Given the description of an element on the screen output the (x, y) to click on. 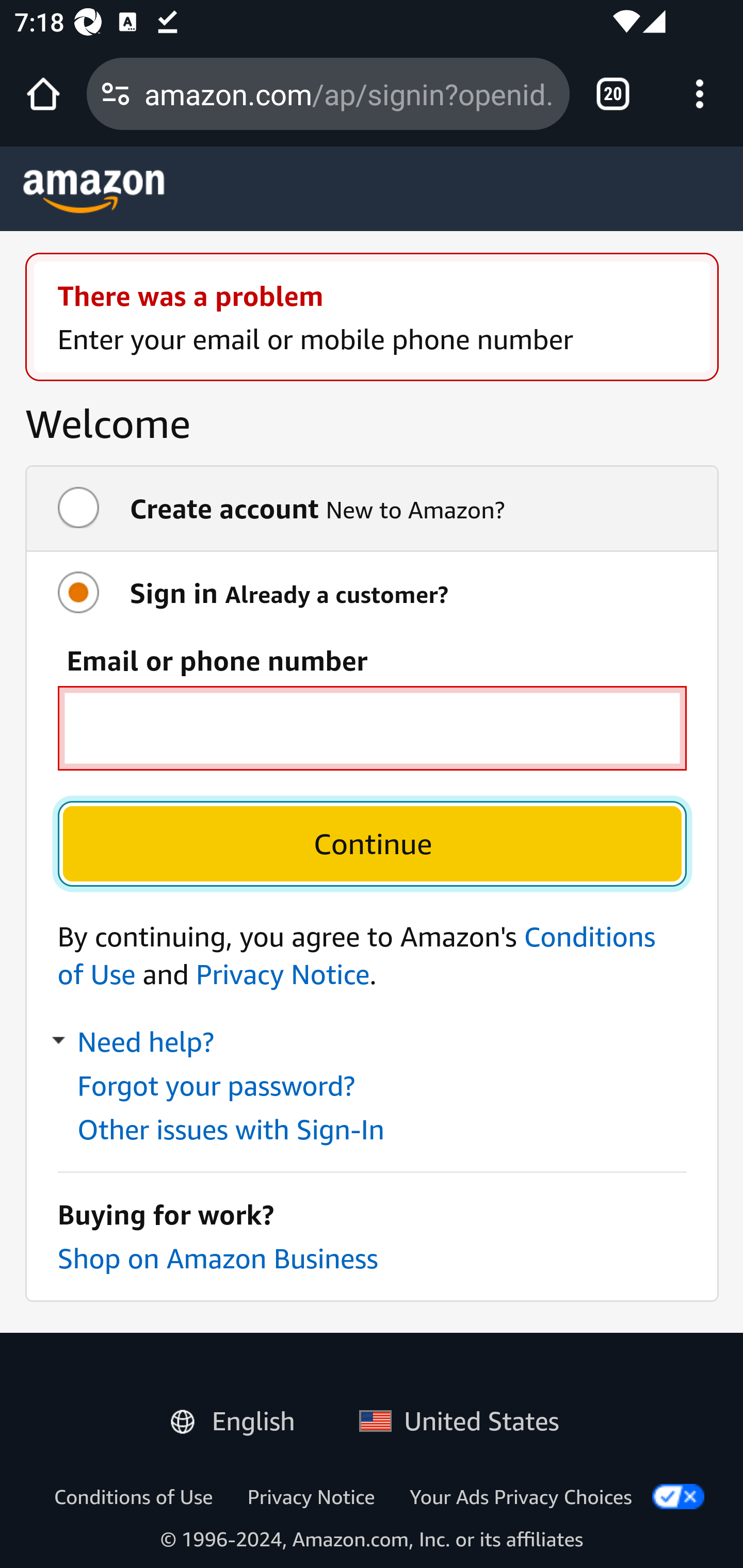
Open the home page (43, 93)
Connection is secure (115, 93)
Switch or close tabs (612, 93)
Customize and control Google Chrome (699, 93)
Amazon (94, 191)
Continue (371, 843)
Conditions of Use (356, 954)
Privacy Notice (282, 973)
Need help? (134, 1042)
Forgot your password? (215, 1085)
Other issues with Sign-In (230, 1128)
Shop on Amazon Business (216, 1258)
Choose a language for shopping. English (239, 1417)
Conditions of Use (132, 1495)
Privacy Notice (310, 1495)
Your Ads Privacy Choices (520, 1495)
